Given the description of an element on the screen output the (x, y) to click on. 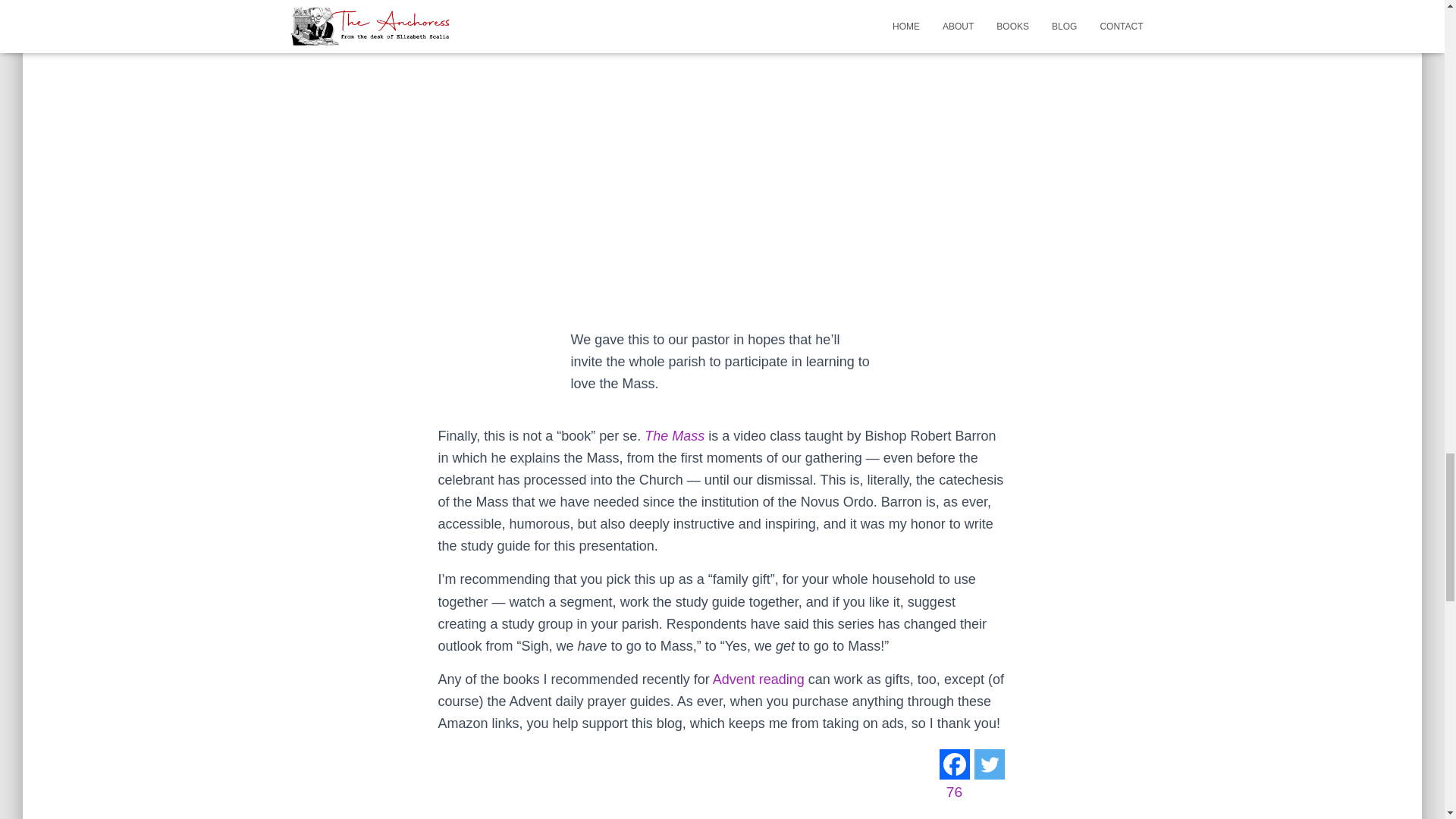
Twitter (990, 764)
The Mass (674, 435)
Advent reading (759, 679)
